Given the description of an element on the screen output the (x, y) to click on. 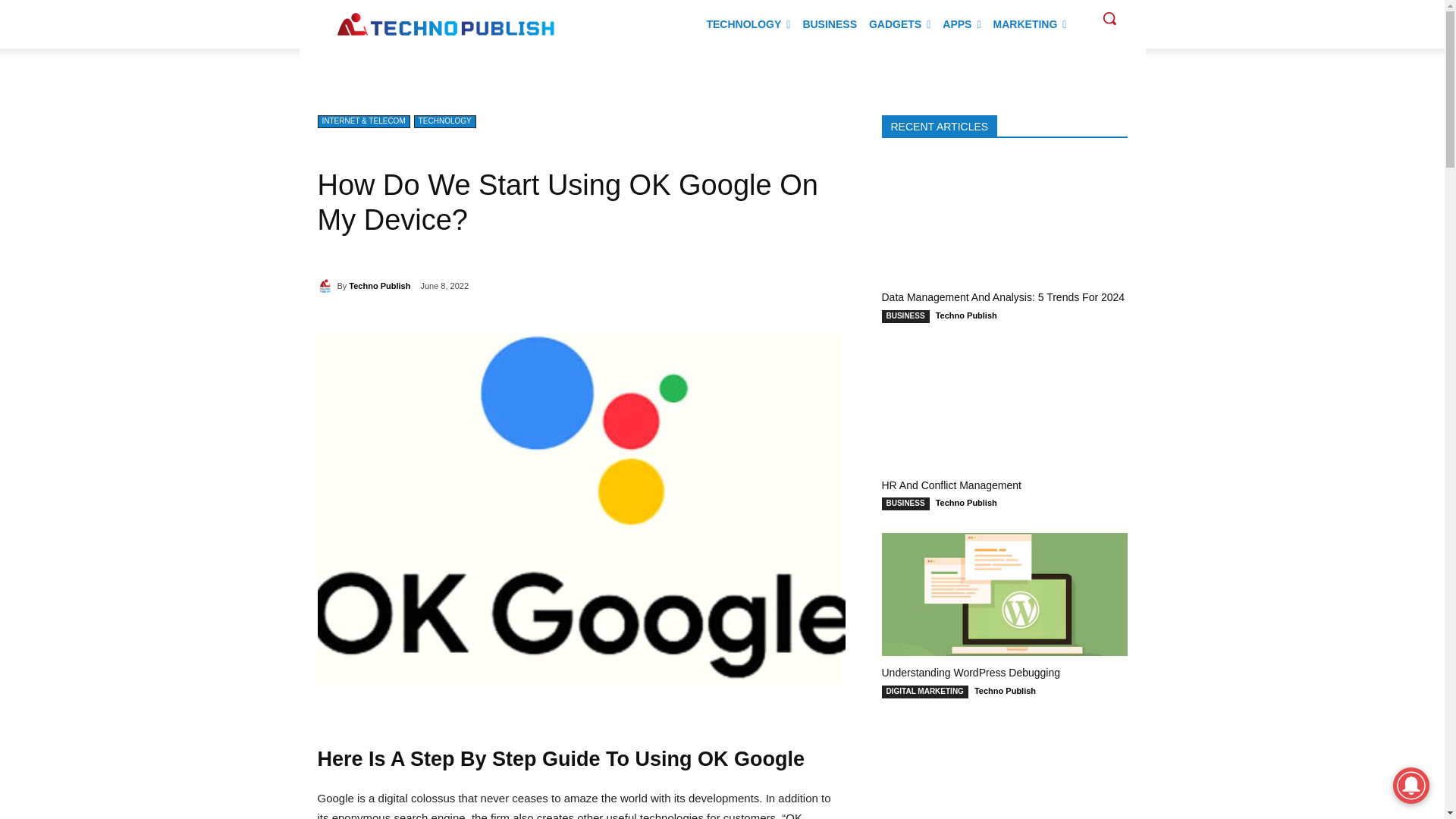
Techno Publish (326, 285)
